Given the description of an element on the screen output the (x, y) to click on. 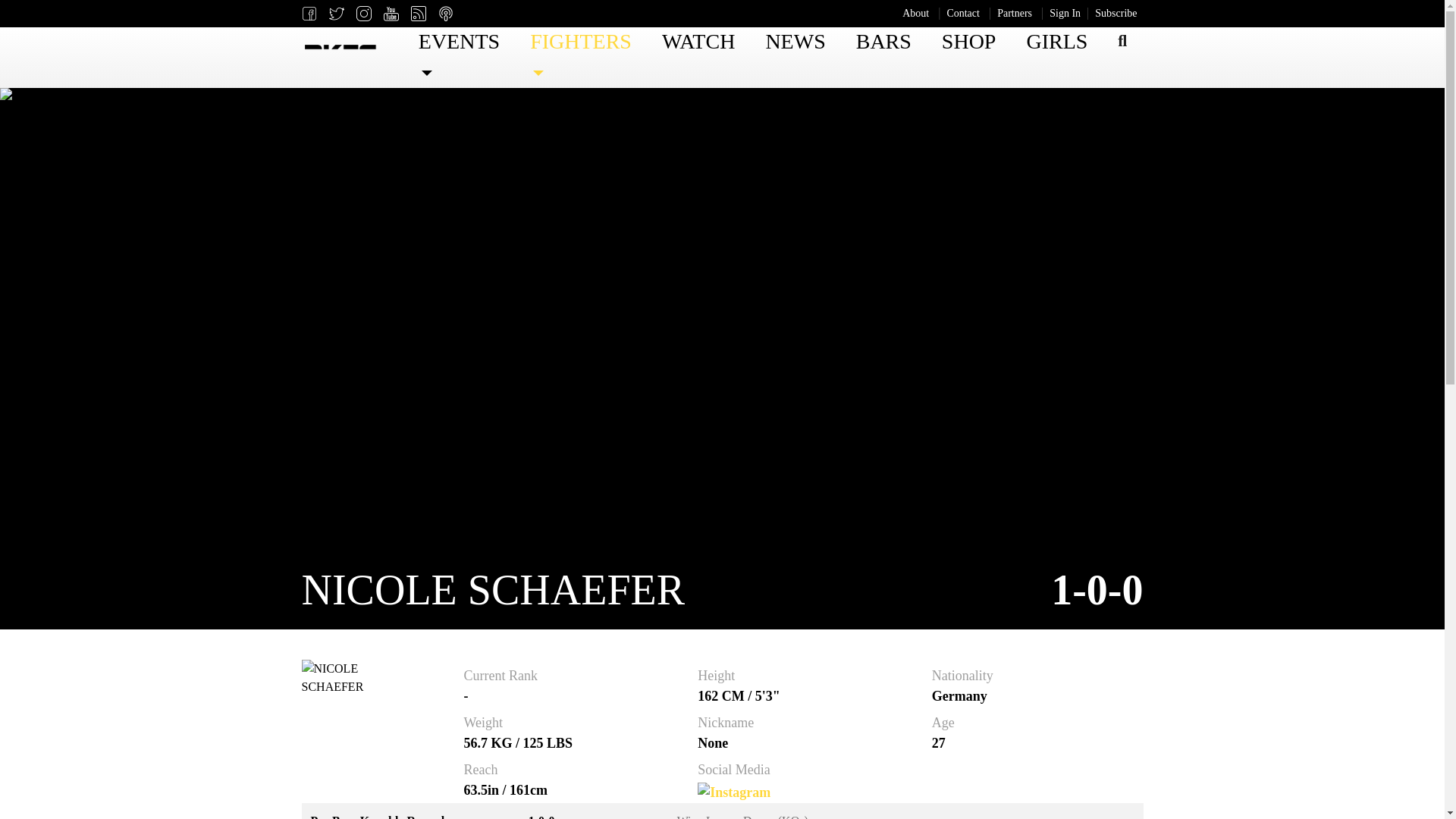
translation missing: en.about  (915, 12)
translation missing: en.reach (480, 769)
EVENTS (458, 57)
Contact (962, 13)
translation missing: en.contact  (962, 12)
Partners (1014, 13)
translation missing: en.bars (883, 41)
About (915, 13)
Sign In (1064, 13)
Subscribe (1115, 13)
